Given the description of an element on the screen output the (x, y) to click on. 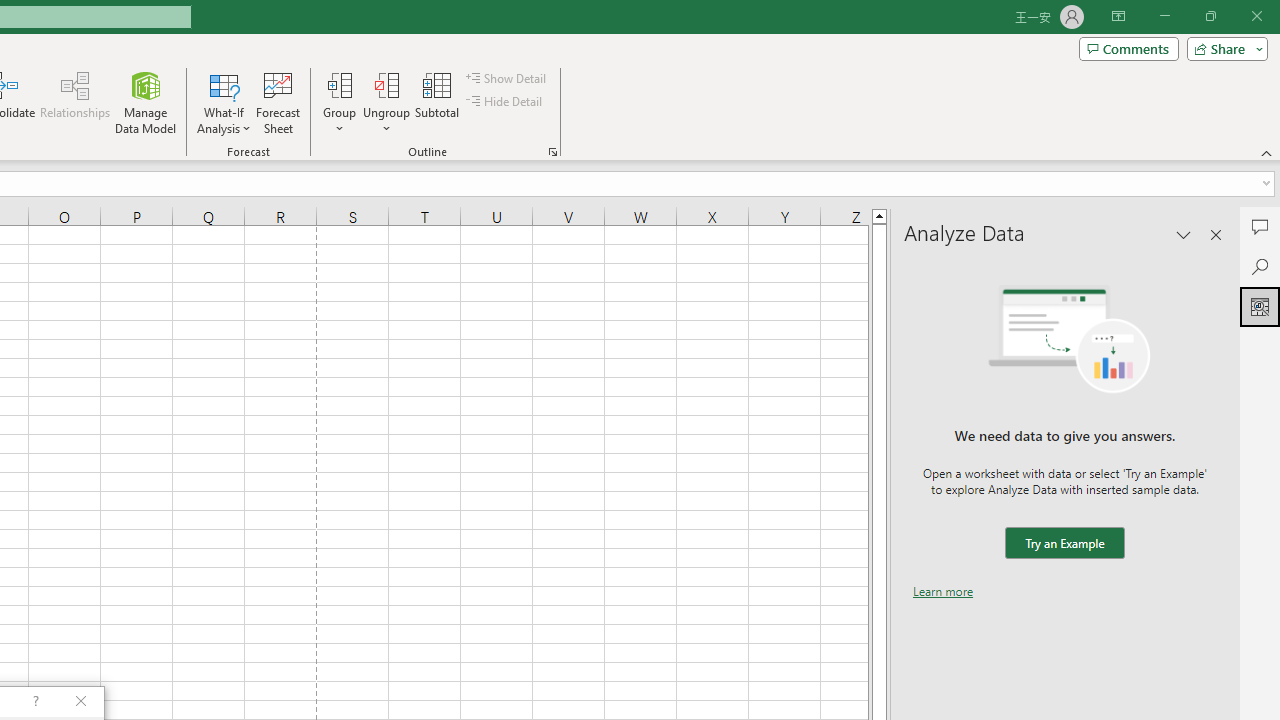
What-If Analysis (223, 102)
Close pane (1215, 234)
Learn more (943, 591)
Group and Outline Settings (552, 151)
Show Detail (507, 78)
Forecast Sheet (278, 102)
Subtotal (437, 102)
Search (1260, 266)
